Given the description of an element on the screen output the (x, y) to click on. 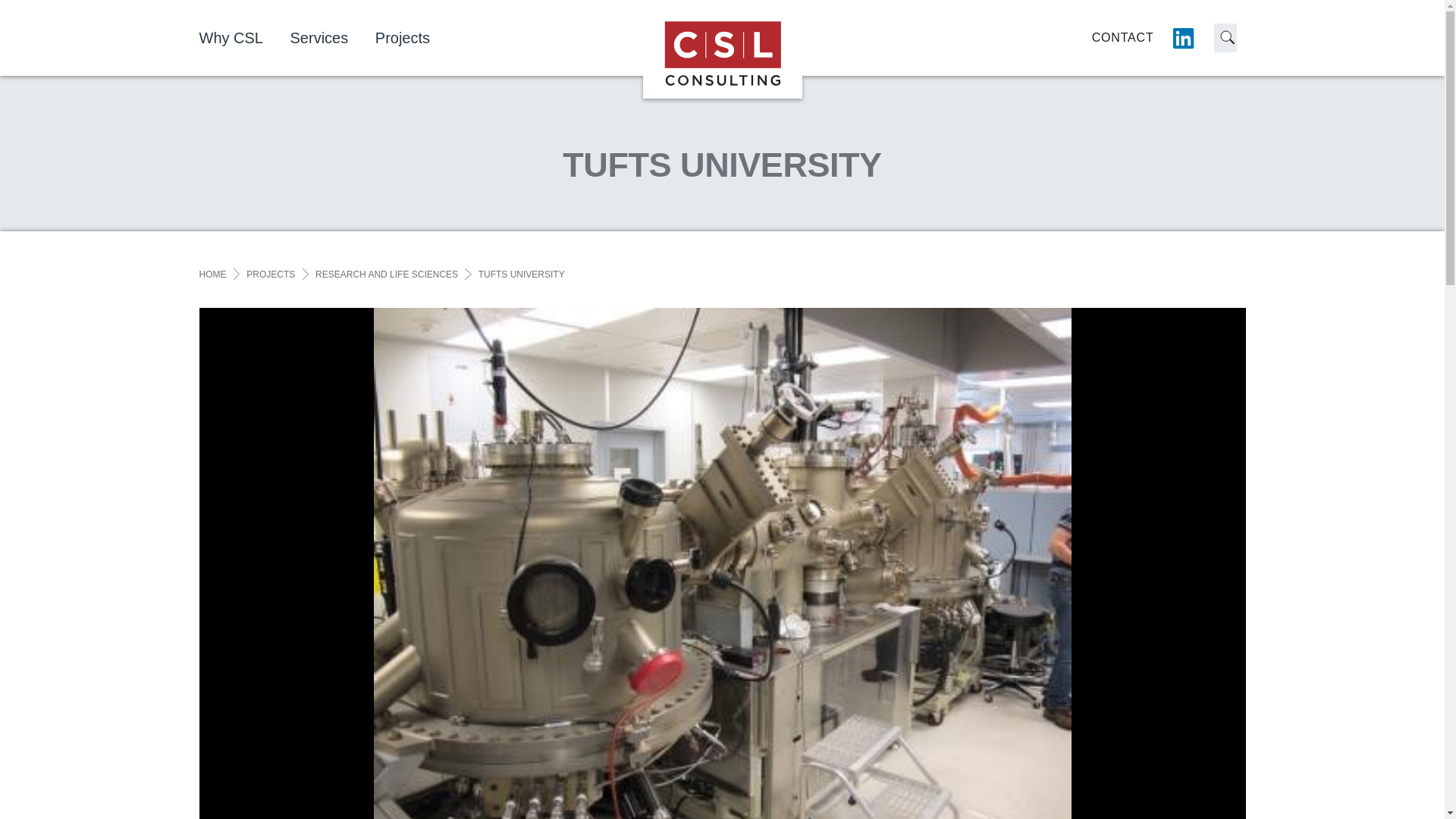
PROJECTS (270, 274)
LINKEDIN (1183, 38)
CONTACT (1123, 37)
RESEARCH AND LIFE SCIENCES (386, 274)
Projects (413, 38)
Services (330, 38)
Why CSL (241, 38)
HOME (211, 274)
